Given the description of an element on the screen output the (x, y) to click on. 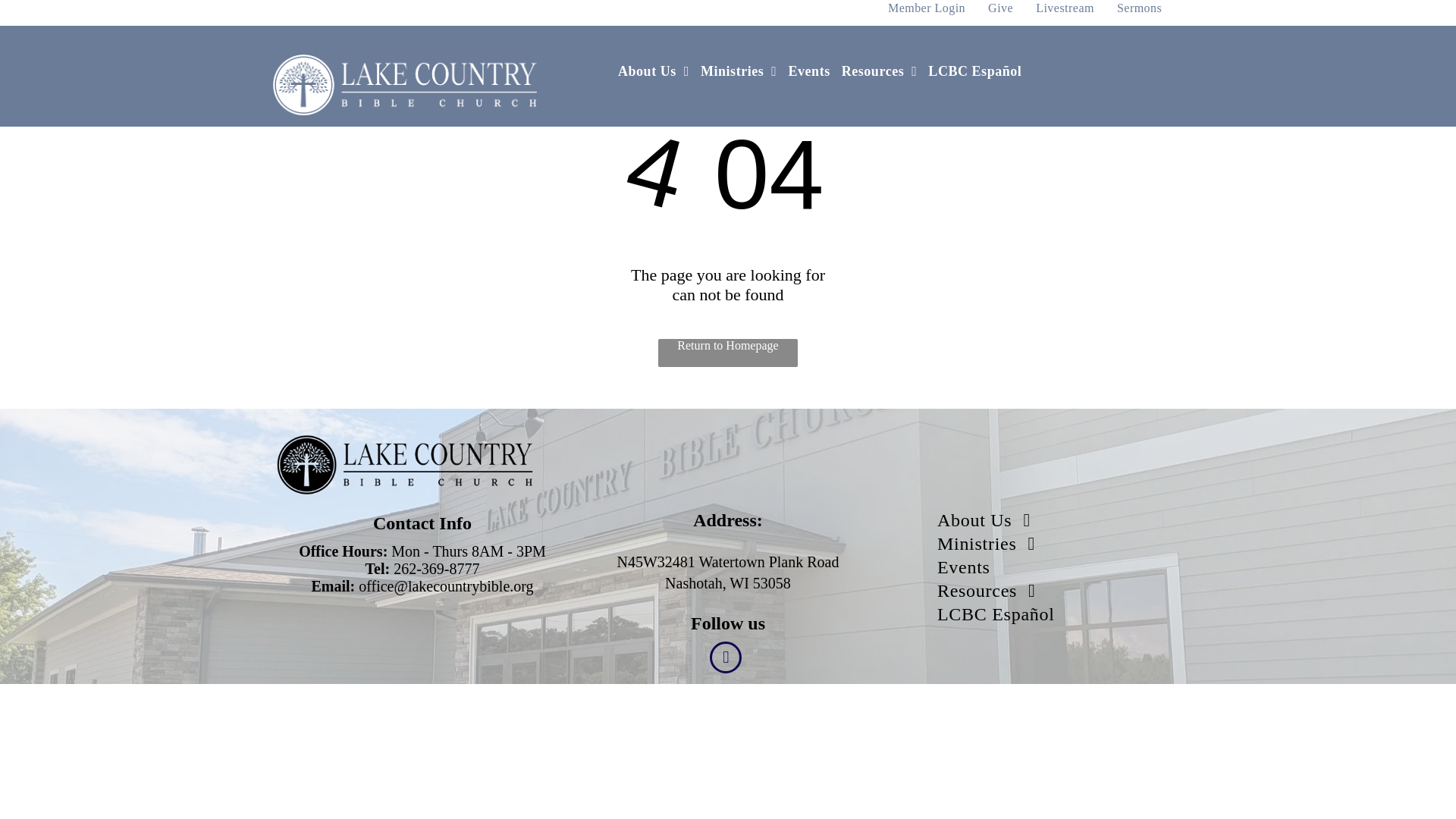
Member Login (926, 9)
Sermons (1139, 9)
Give (1000, 9)
Livestream (1065, 9)
